Given the description of an element on the screen output the (x, y) to click on. 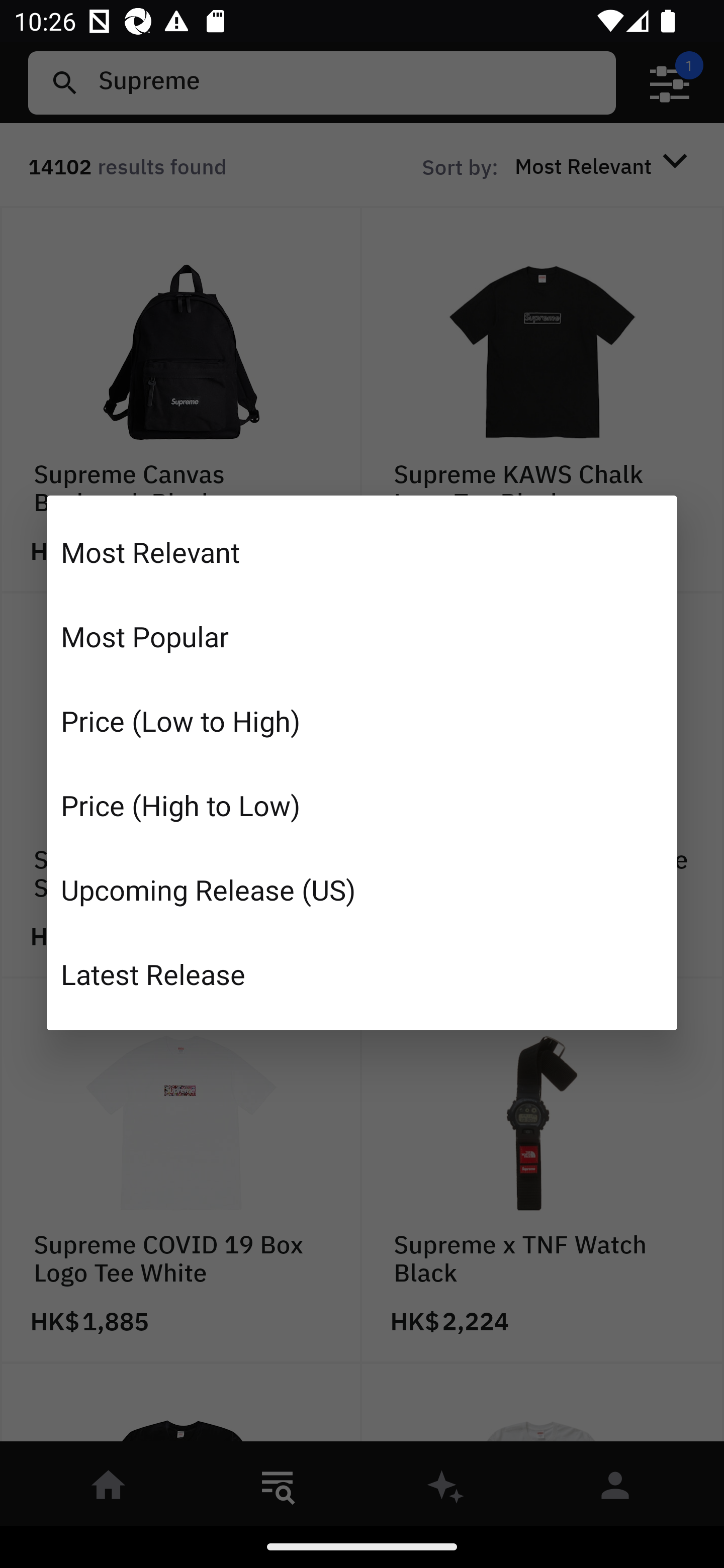
Most Relevant (361, 551)
Most Popular (361, 636)
Price (Low to High) (361, 720)
Price (High to Low) (361, 804)
Upcoming Release (US) (361, 888)
Latest Release (361, 973)
